Given the description of an element on the screen output the (x, y) to click on. 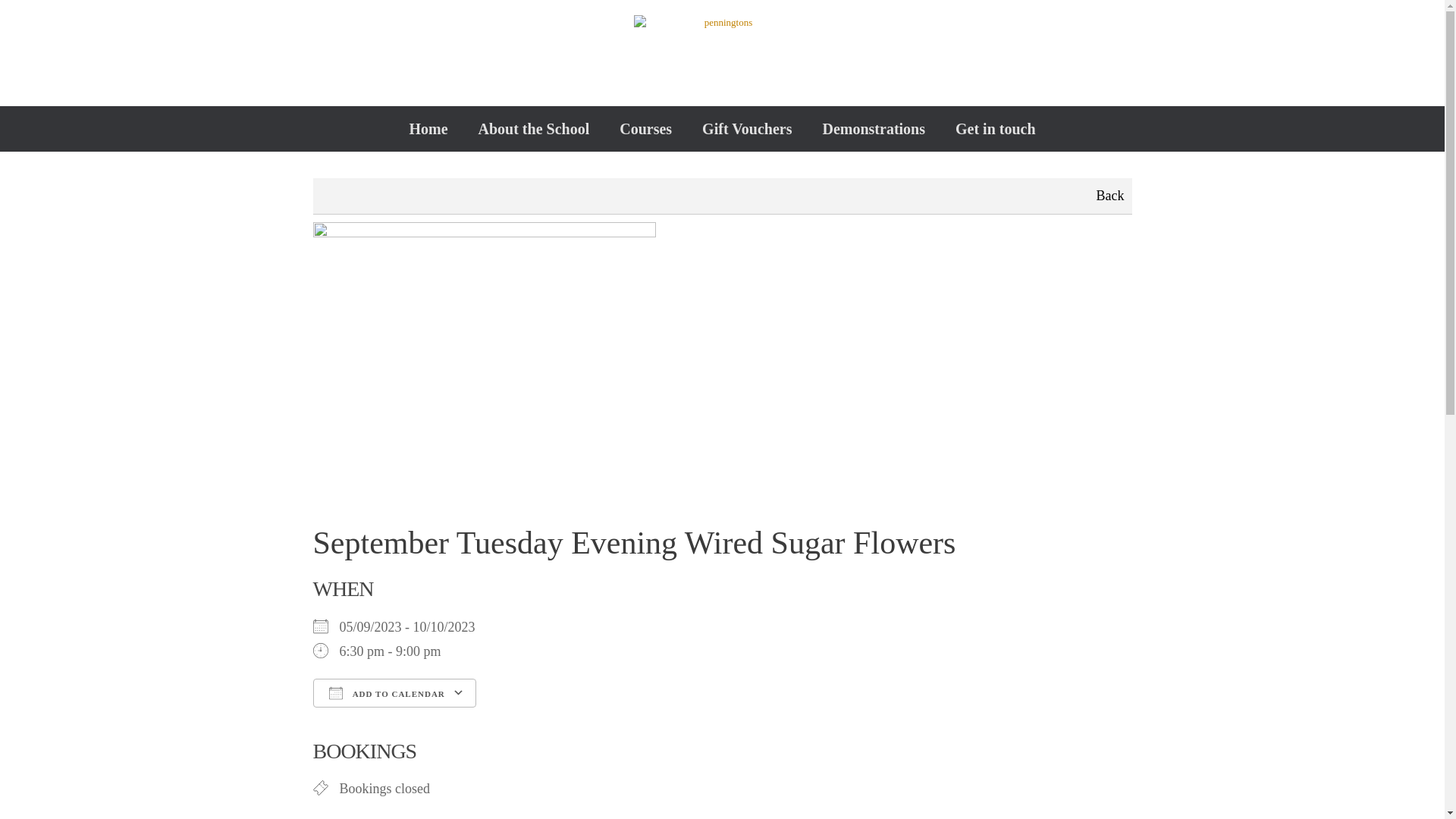
About the School (534, 128)
Gift Vouchers (746, 128)
Download ICS (329, 723)
Penningtons School of Cake Artistry (722, 52)
ADD TO CALENDAR (394, 692)
Home (428, 128)
Get in touch (995, 128)
Back (1110, 195)
Demonstrations (873, 128)
Courses (645, 128)
